Given the description of an element on the screen output the (x, y) to click on. 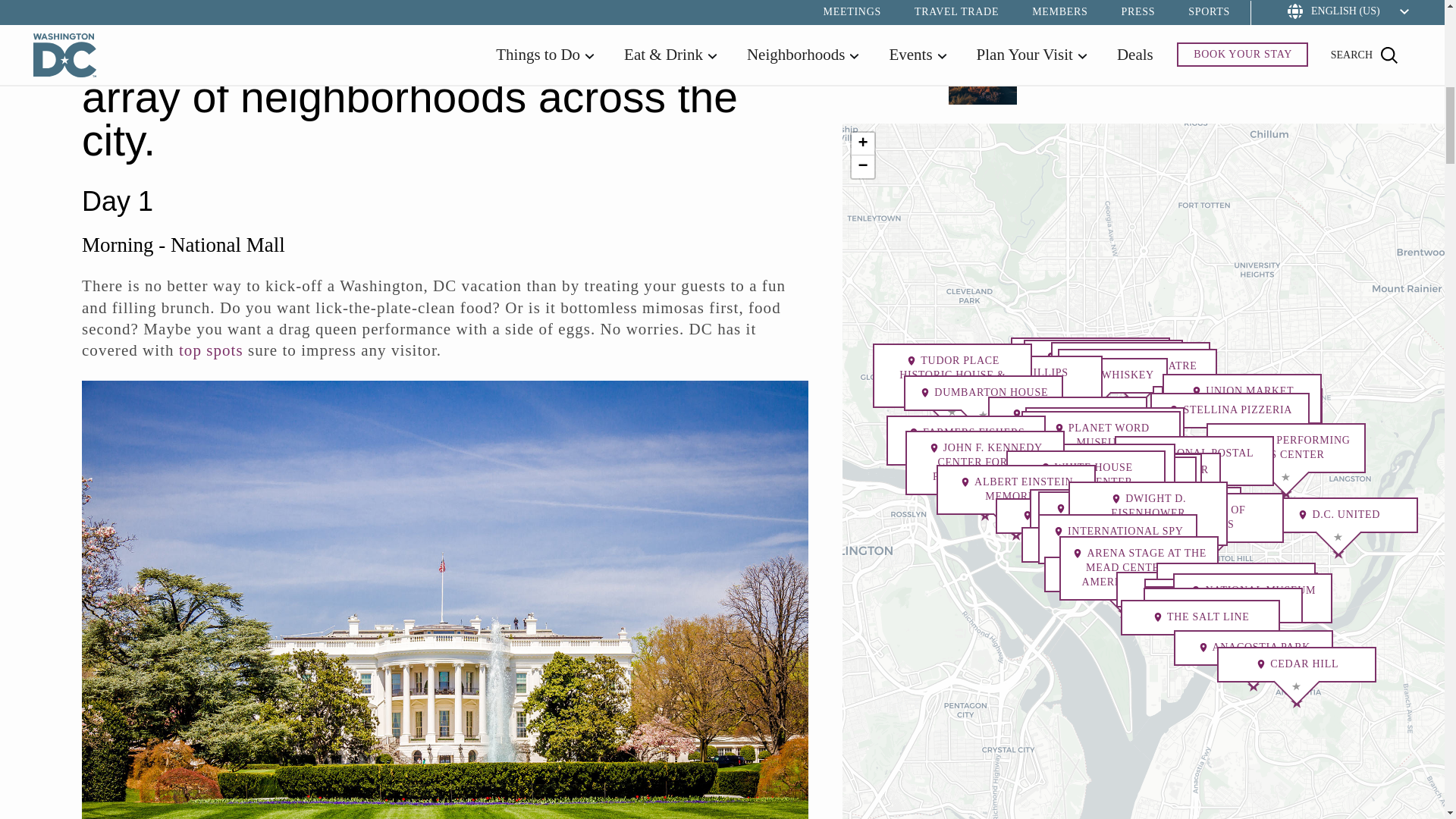
Zoom in (863, 143)
Zoom out (863, 166)
